Given the description of an element on the screen output the (x, y) to click on. 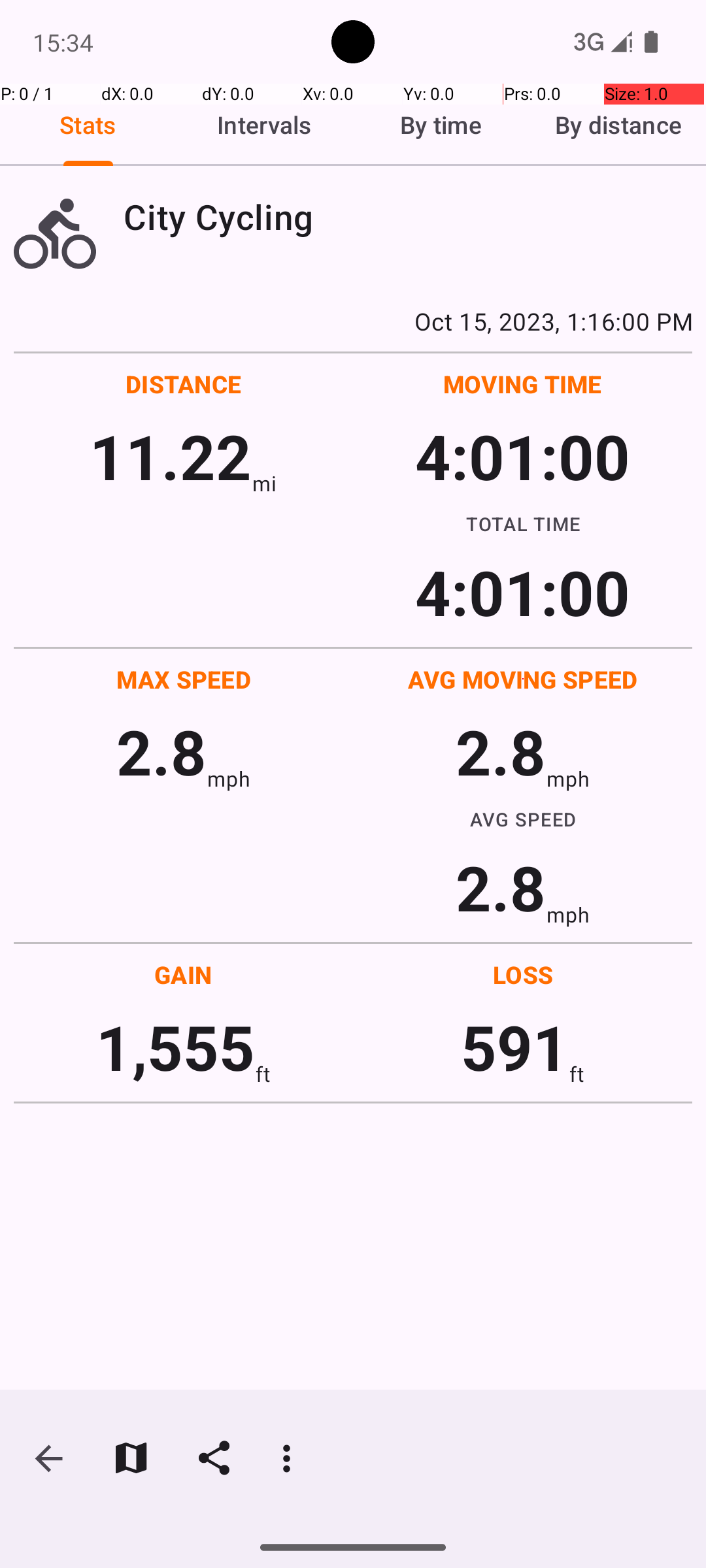
City Cycling Element type: android.widget.TextView (407, 216)
Oct 15, 2023, 1:16:00 PM Element type: android.widget.TextView (352, 320)
11.22 Element type: android.widget.TextView (170, 455)
4:01:00 Element type: android.widget.TextView (522, 455)
2.8 Element type: android.widget.TextView (161, 750)
1,555 Element type: android.widget.TextView (175, 1045)
591 Element type: android.widget.TextView (514, 1045)
